Given the description of an element on the screen output the (x, y) to click on. 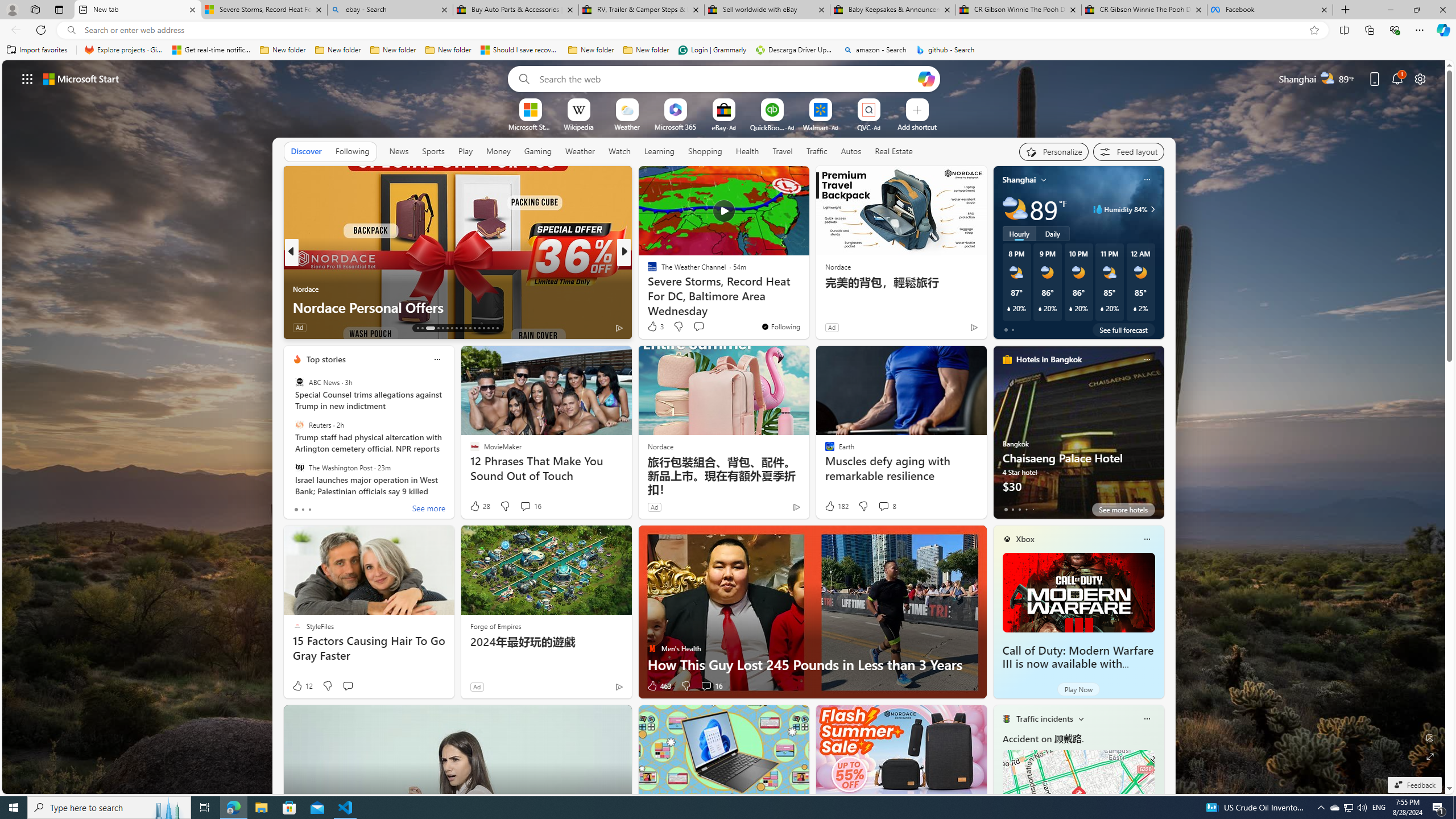
Play Now (1078, 689)
28 Like (479, 505)
Traffic incidents (1044, 718)
AutomationID: tab-19 (451, 328)
Forge of Empires (495, 625)
View comments 167 Comment (703, 327)
The Independent (647, 270)
